Given the description of an element on the screen output the (x, y) to click on. 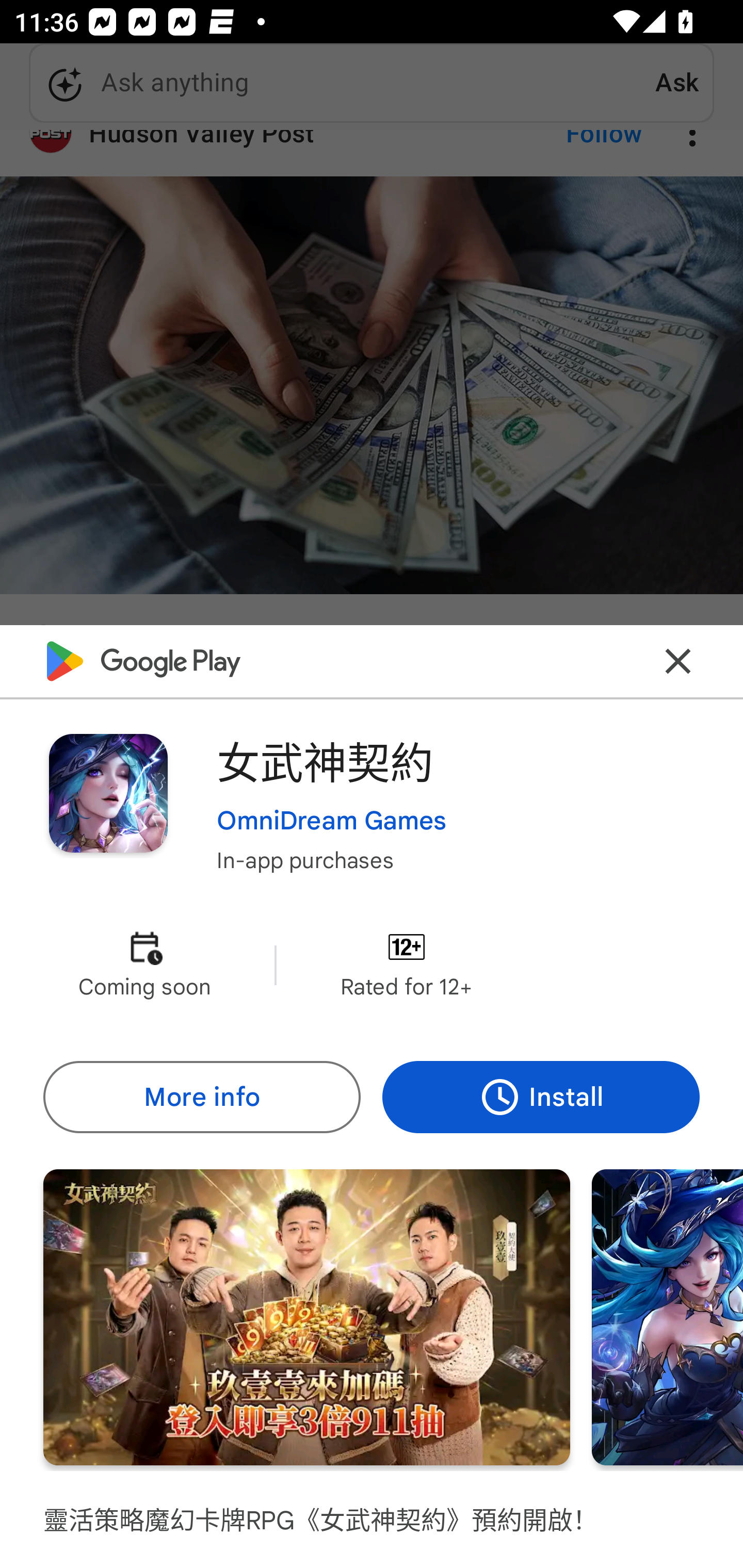
Close (677, 661)
Image of app or game icon for 女武神契約 (108, 792)
OmniDream Games (331, 820)
More info (201, 1097)
Install (540, 1097)
Screenshot "1" of "5" (306, 1317)
Screenshot "2" of "5" (667, 1317)
